Given the description of an element on the screen output the (x, y) to click on. 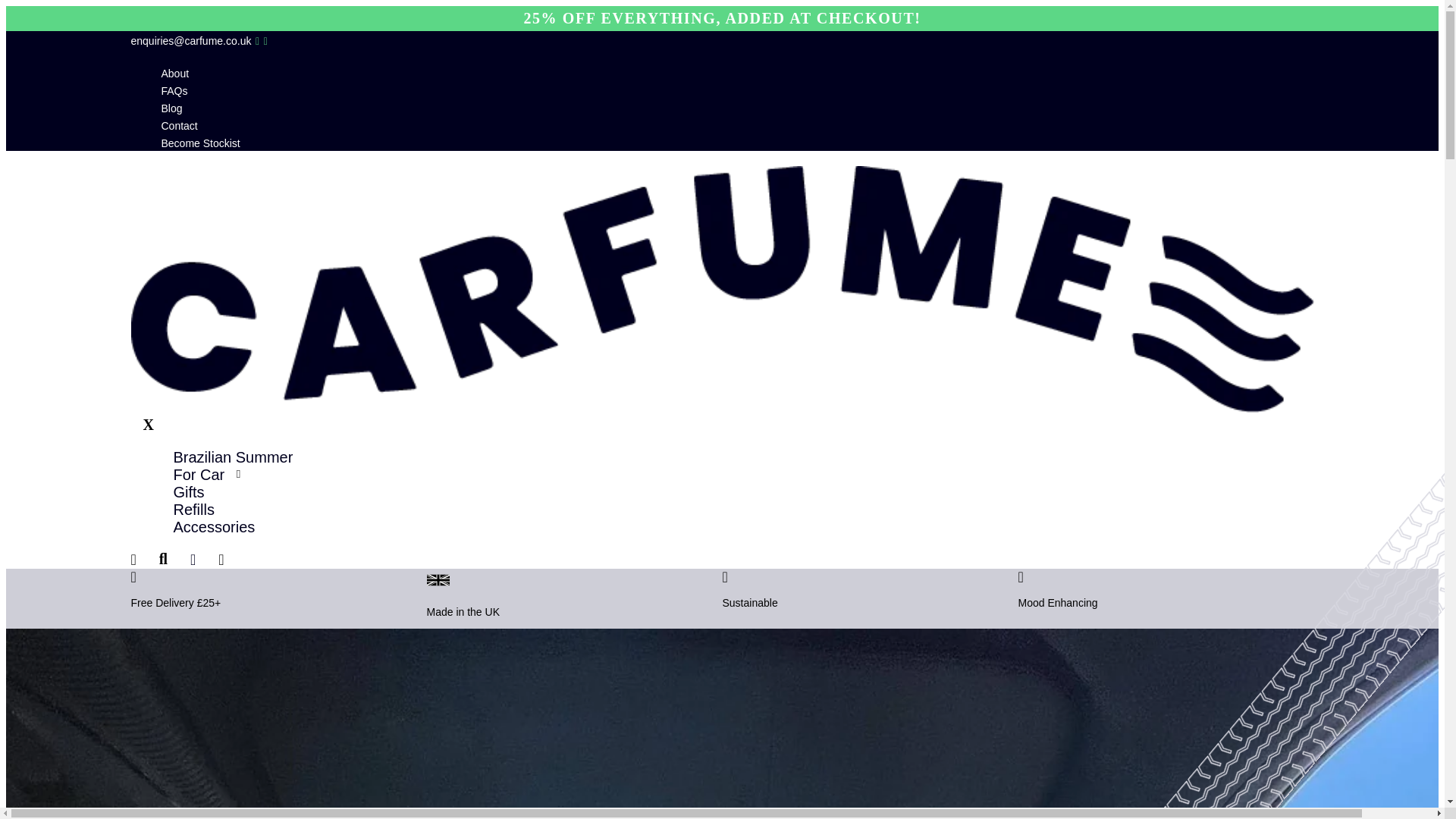
Skip to content (41, 4)
Become Stockist (200, 143)
Refills (193, 509)
For Car (198, 474)
Contact (178, 125)
Brazilian Summer (232, 457)
Blog (171, 108)
Accessories (213, 526)
About (174, 73)
FAQs (173, 91)
Gifts (188, 492)
